Given the description of an element on the screen output the (x, y) to click on. 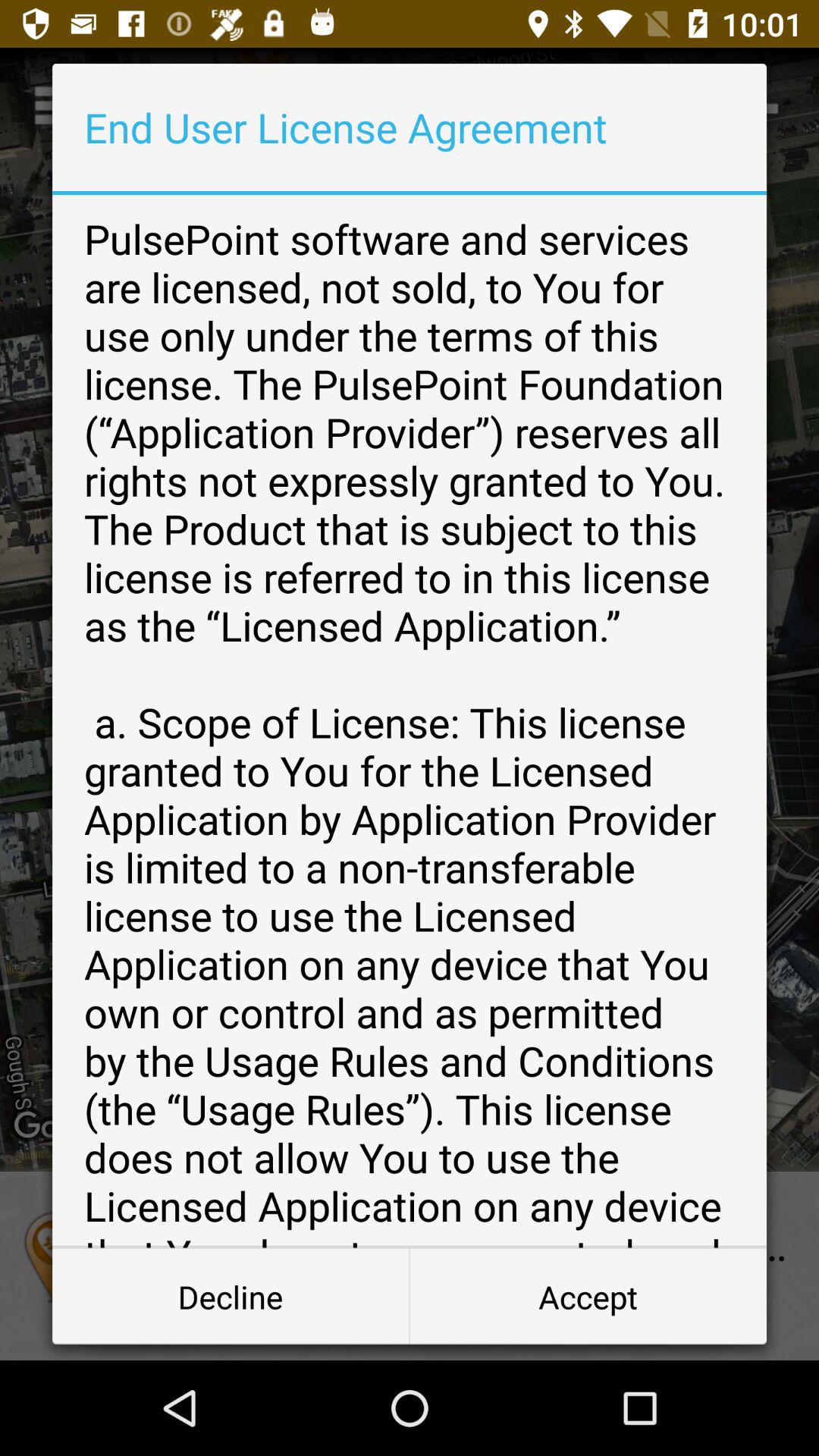
open the decline button (230, 1296)
